Given the description of an element on the screen output the (x, y) to click on. 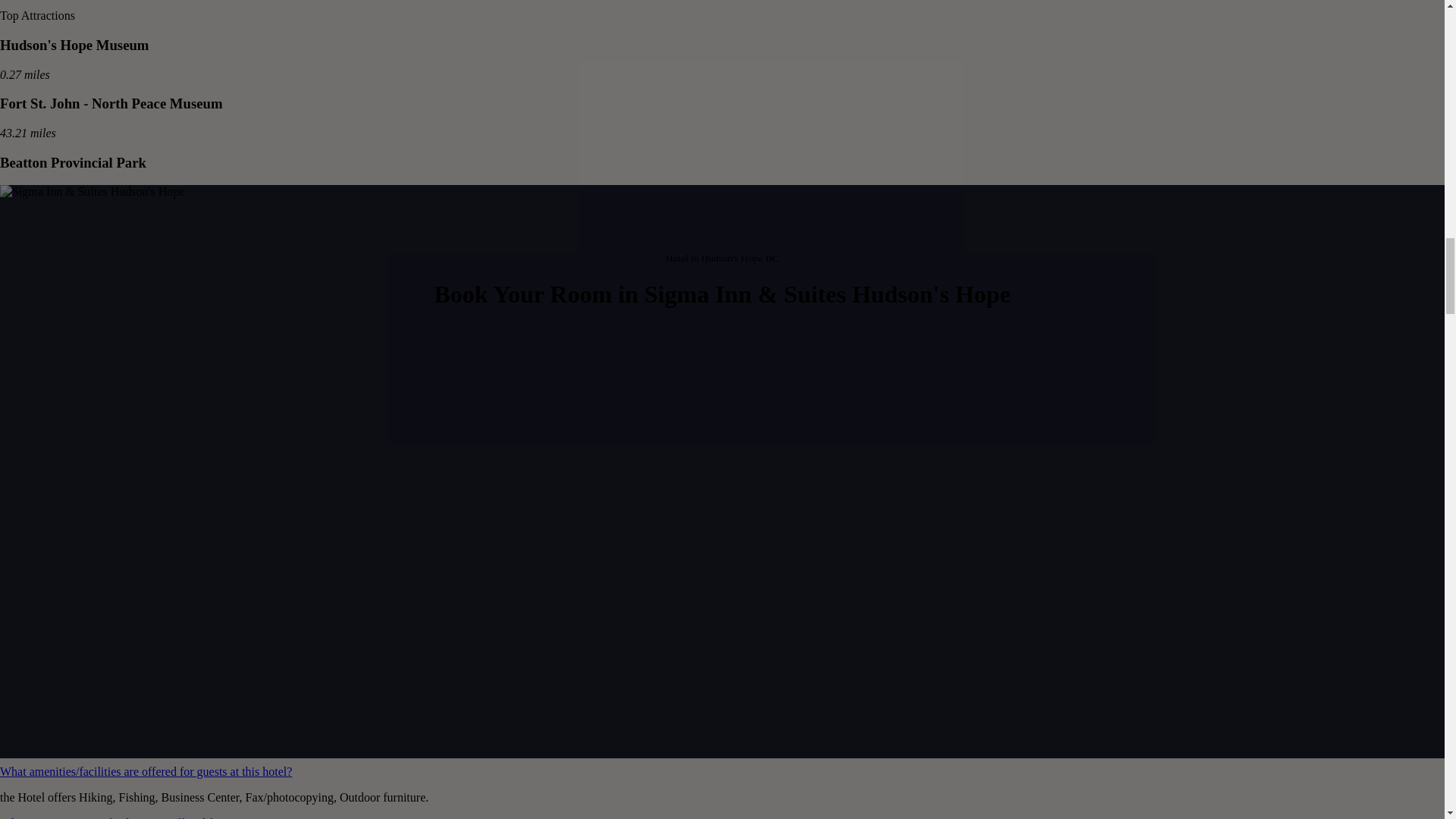
Chainsaw Carvings (58, 397)
W.A.C. Bennett Dam Visitor Centre (108, 455)
Fort St. John - North Peace Museum (111, 103)
Hudson's Hope Steam Vents (85, 279)
Fish Creek Community Forest (92, 338)
Hudson's Hope Museum (74, 44)
Moberly Lake Provincial Park (92, 220)
Beatton Provincial Park (73, 162)
